Given the description of an element on the screen output the (x, y) to click on. 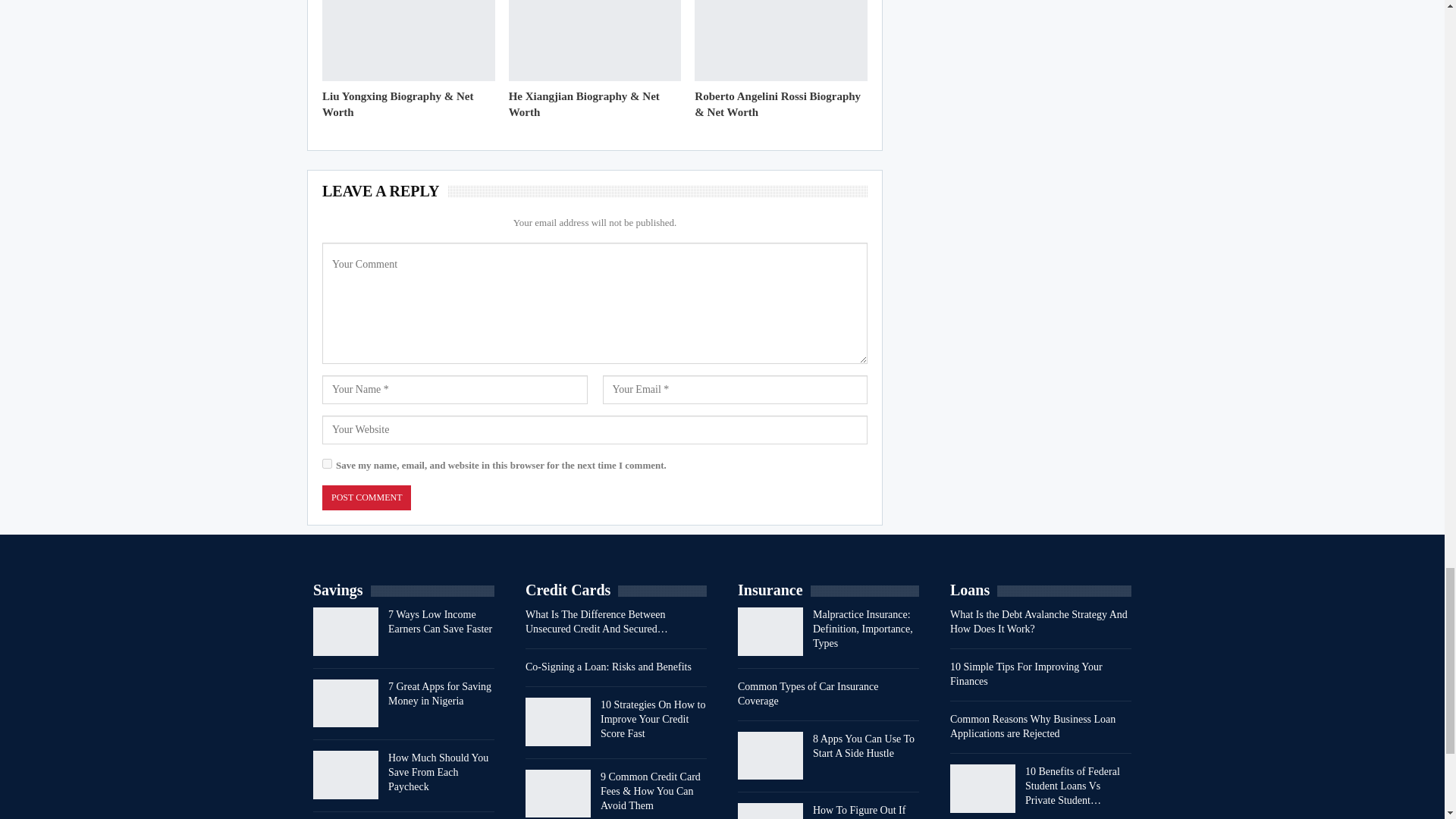
yes (326, 463)
Post Comment (365, 497)
7 Ways Low Income Earners Can Save Faster (345, 631)
